Given the description of an element on the screen output the (x, y) to click on. 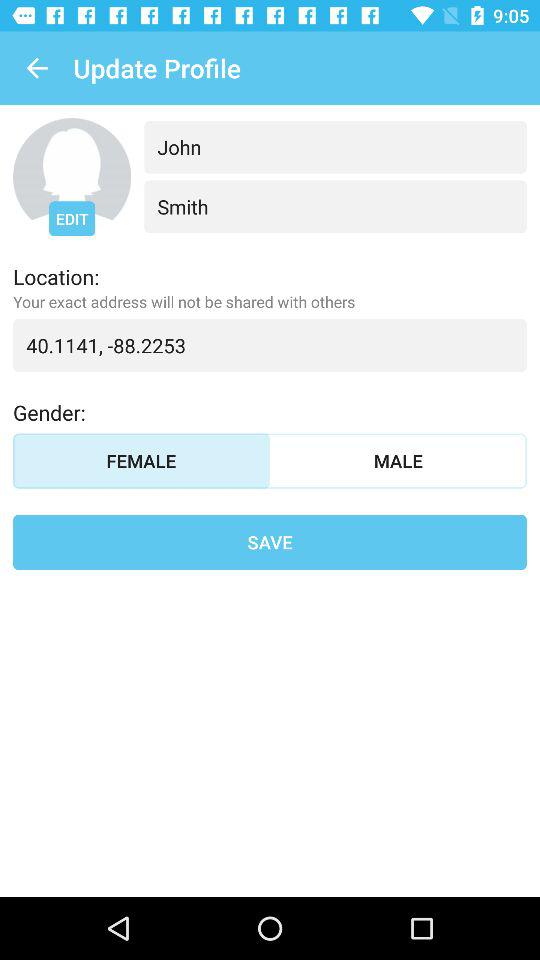
choose item above save (141, 460)
